Given the description of an element on the screen output the (x, y) to click on. 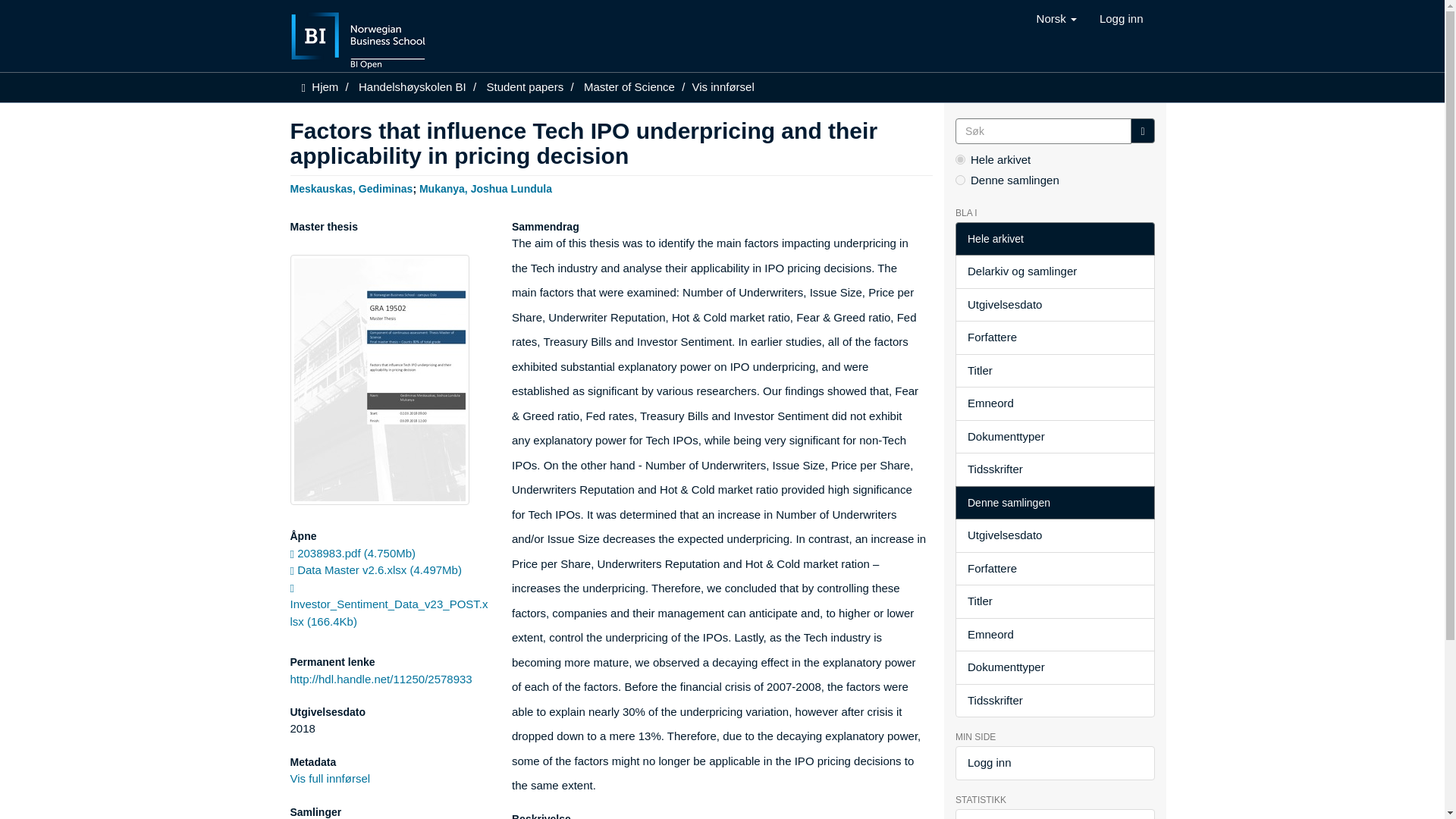
Mukanya, Joshua Lundula (485, 187)
Delarkiv og samlinger (1054, 271)
Utgivelsesdato (1054, 305)
Hele arkivet (1054, 238)
Student papers (524, 86)
Logg inn (1120, 18)
Norsk  (1056, 18)
Hjem (324, 86)
Master of Science (629, 86)
Meskauskas, Gediminas (350, 187)
